Given the description of an element on the screen output the (x, y) to click on. 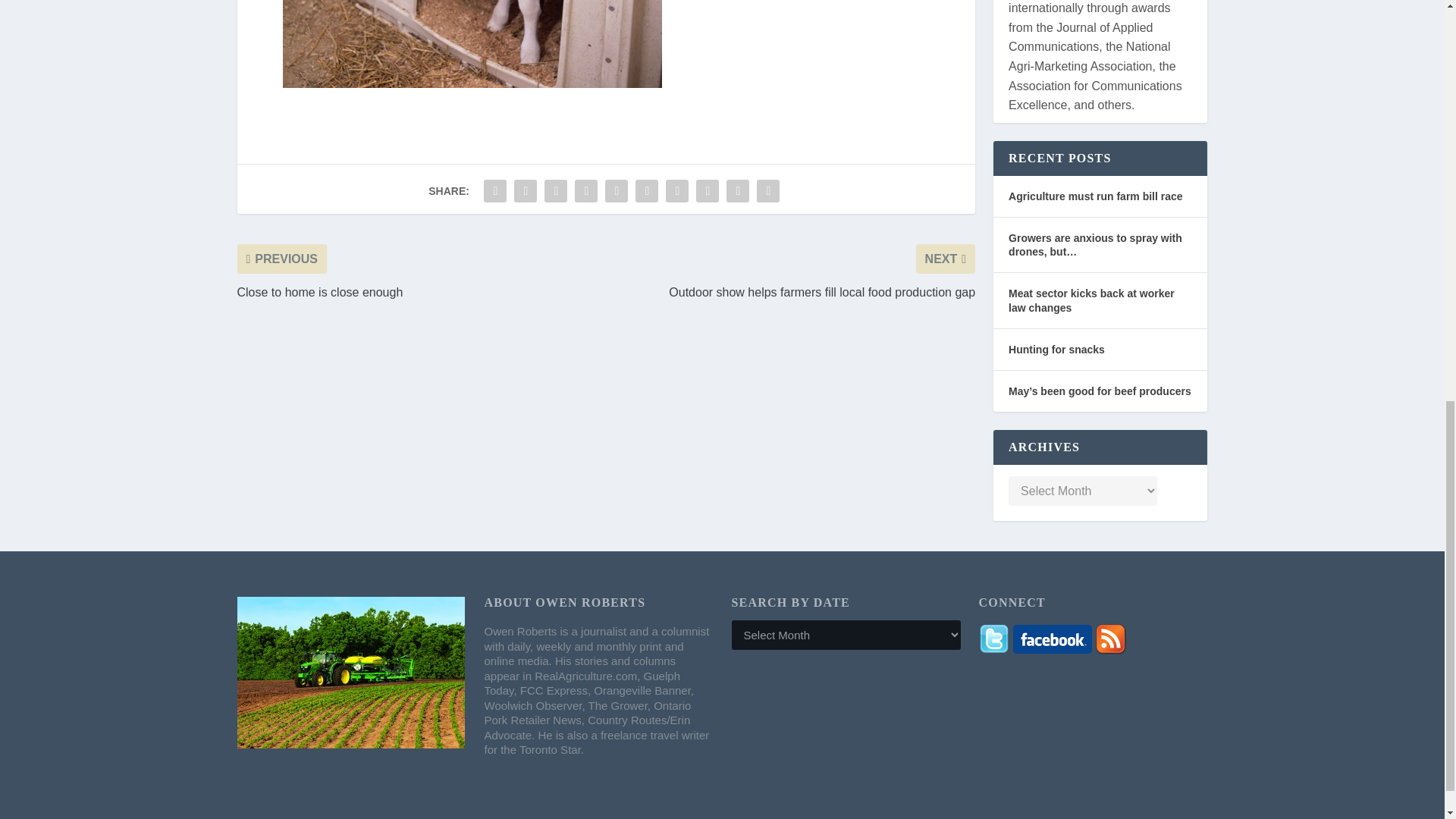
dairy calf (471, 43)
